Given the description of an element on the screen output the (x, y) to click on. 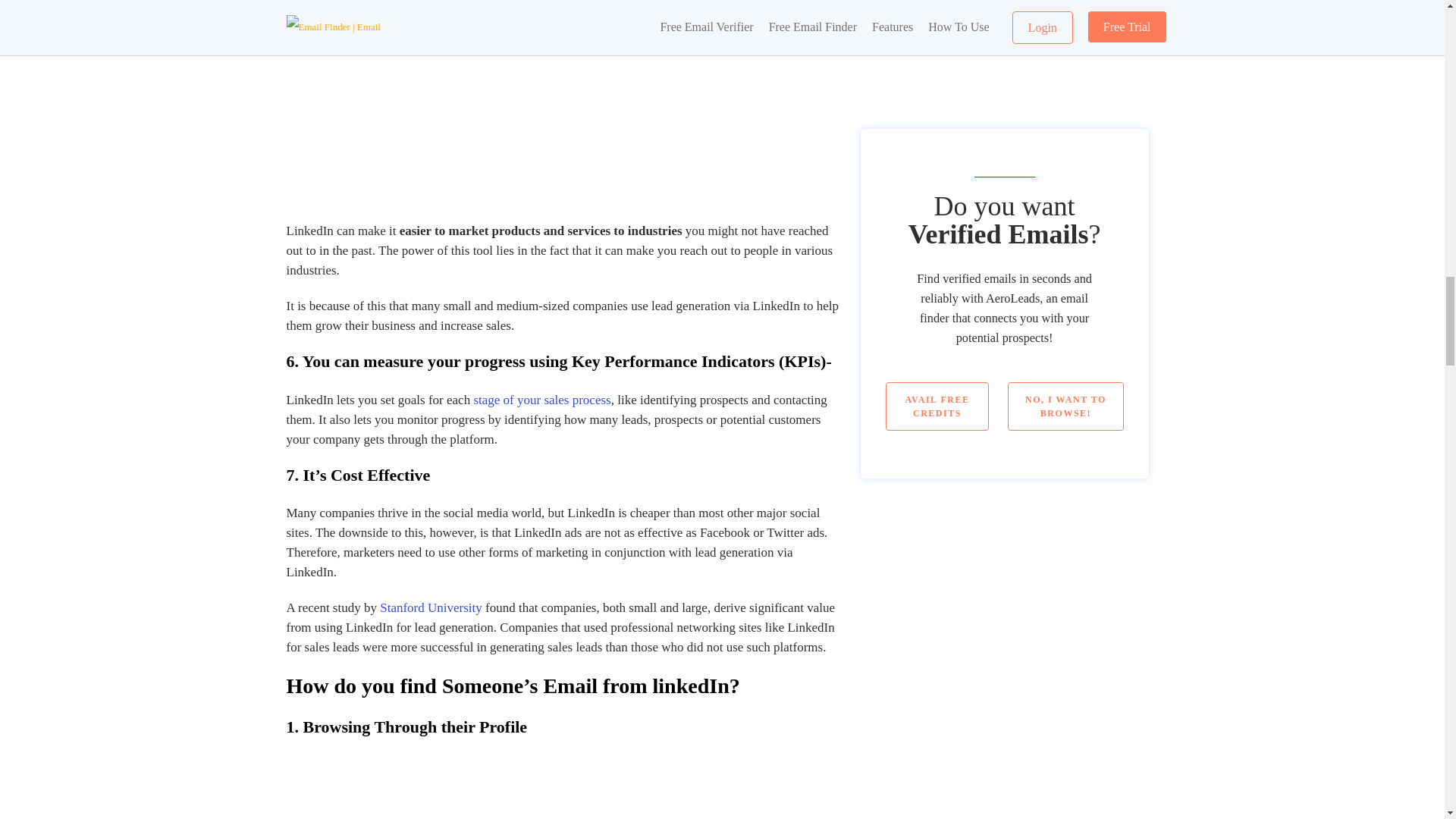
stage of your sales process (541, 400)
Stanford University (430, 607)
